Given the description of an element on the screen output the (x, y) to click on. 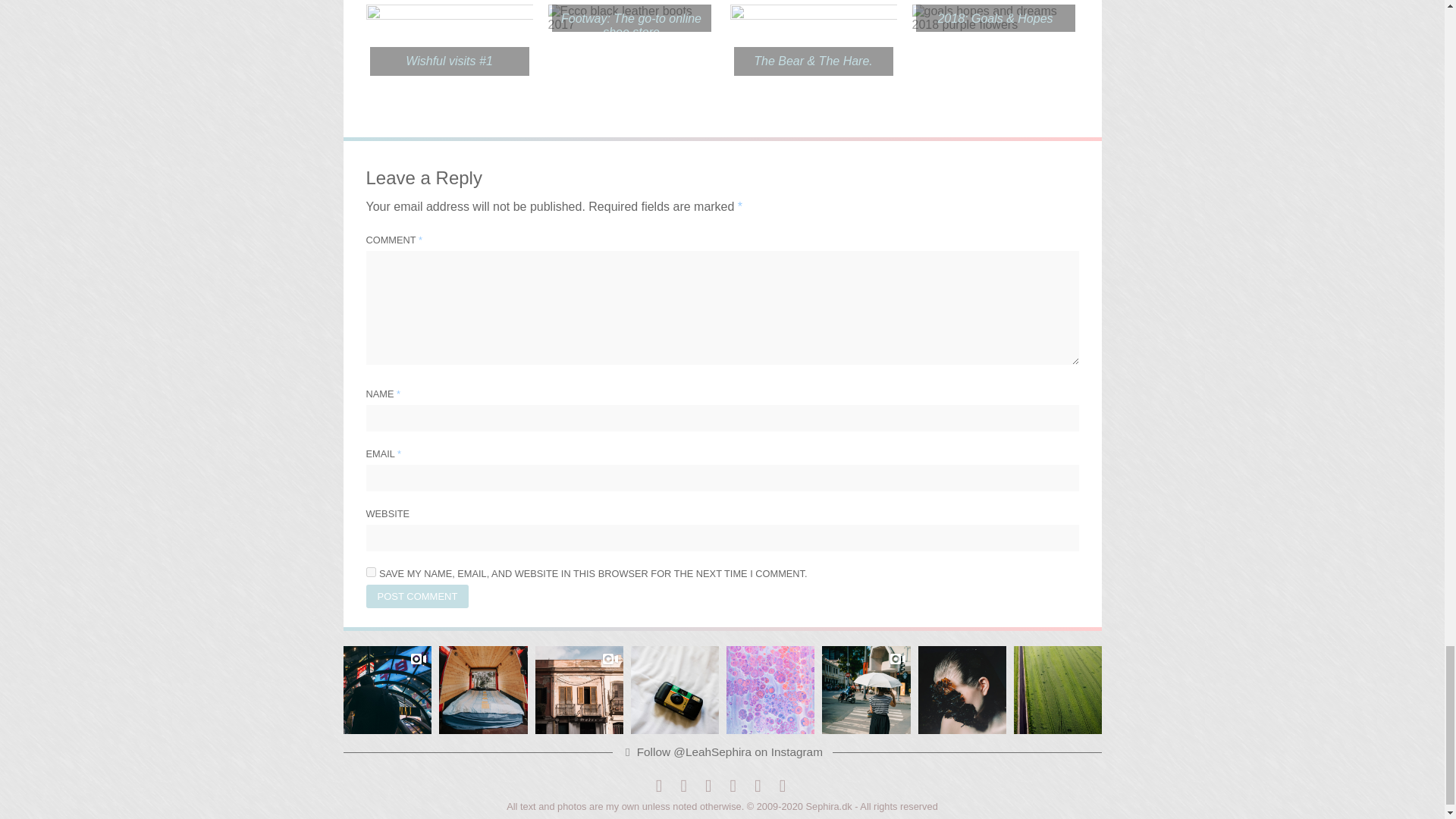
Instagram (707, 785)
Footway: The go-to online shoe store (631, 25)
yes (370, 572)
Facebook (658, 785)
Post Comment (416, 596)
Twitter (683, 785)
Bloglovin (732, 785)
E-Mail (757, 785)
